Given the description of an element on the screen output the (x, y) to click on. 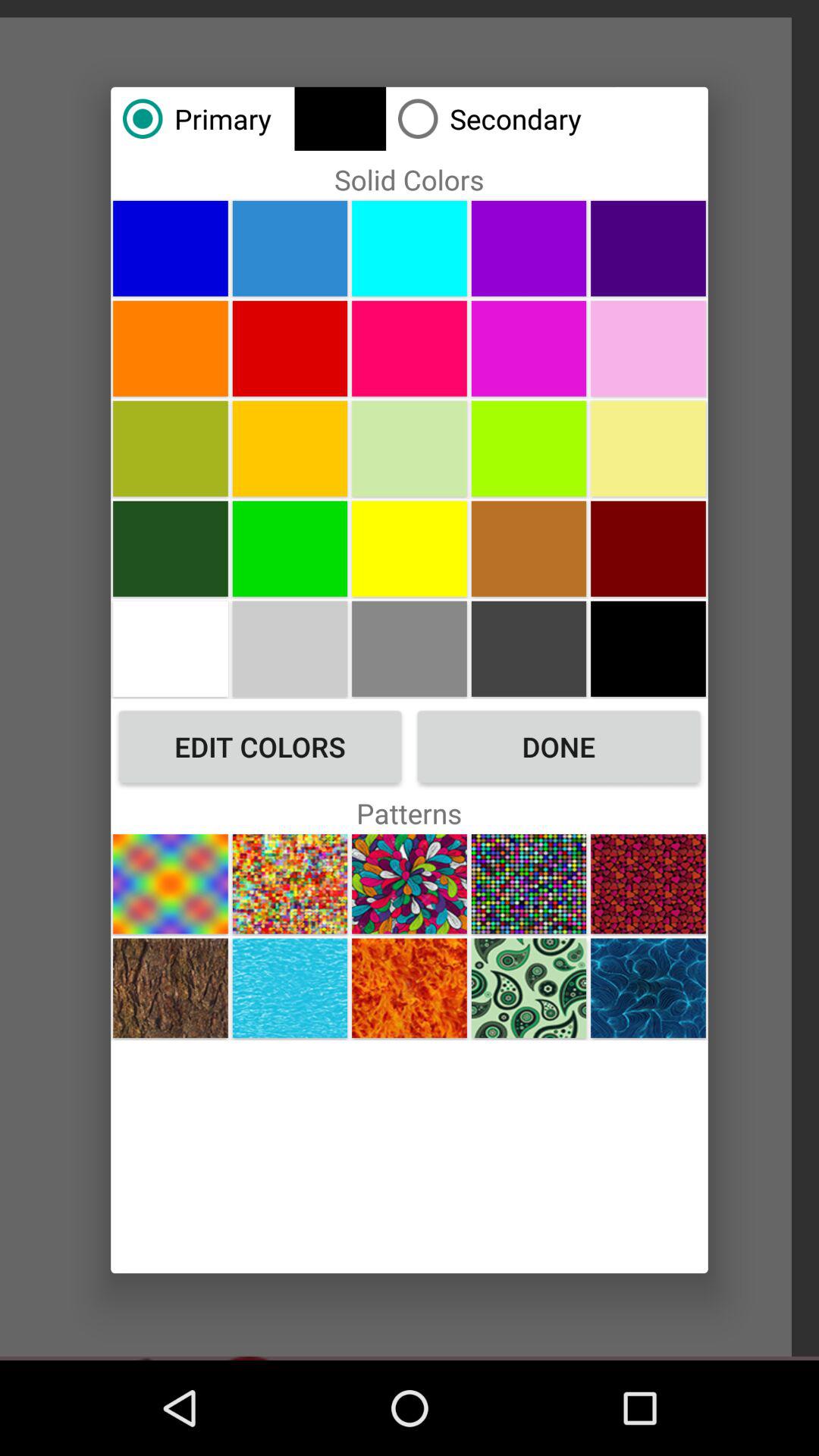
select pattern (409, 987)
